Given the description of an element on the screen output the (x, y) to click on. 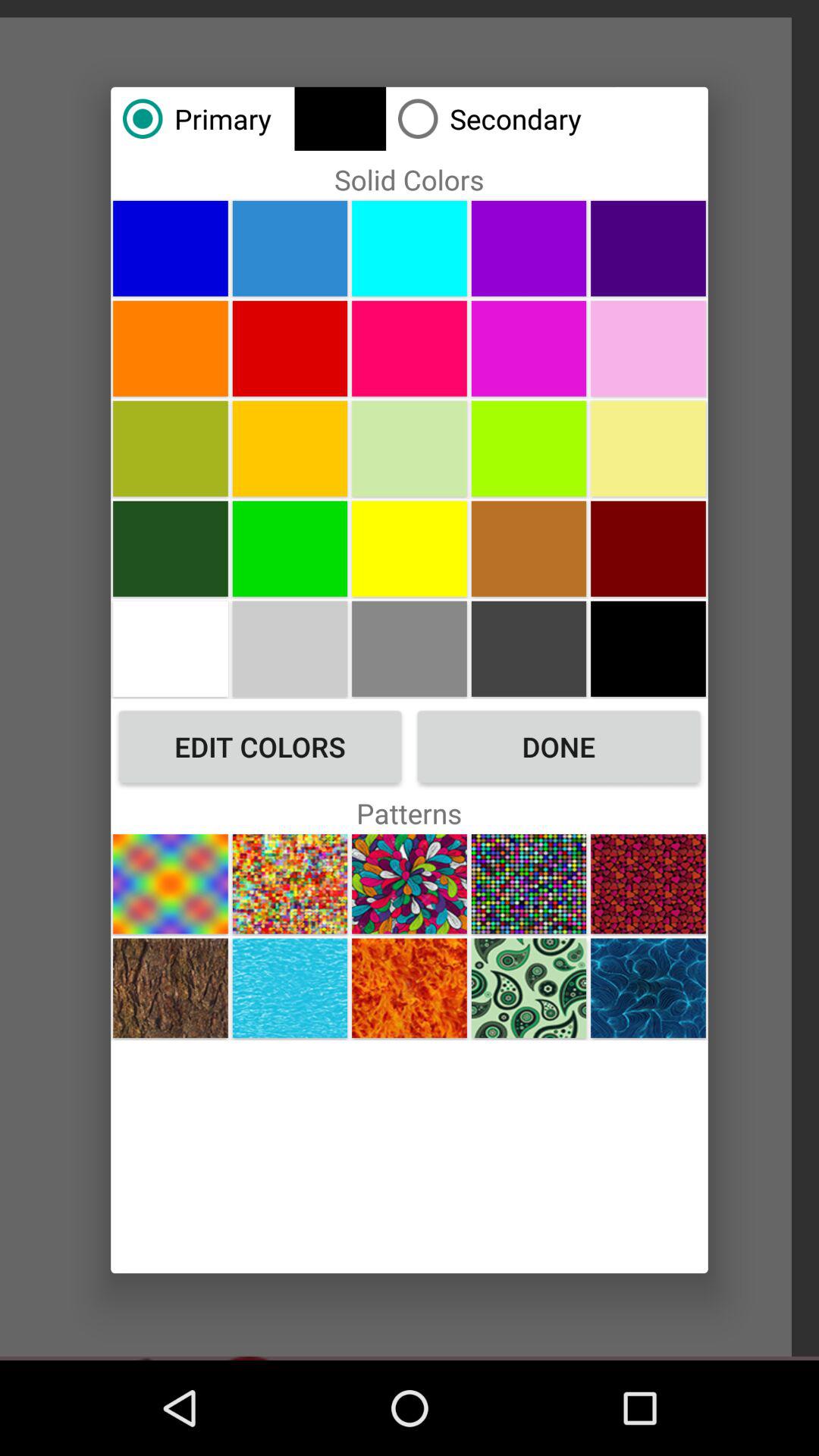
select pattern (409, 987)
